Given the description of an element on the screen output the (x, y) to click on. 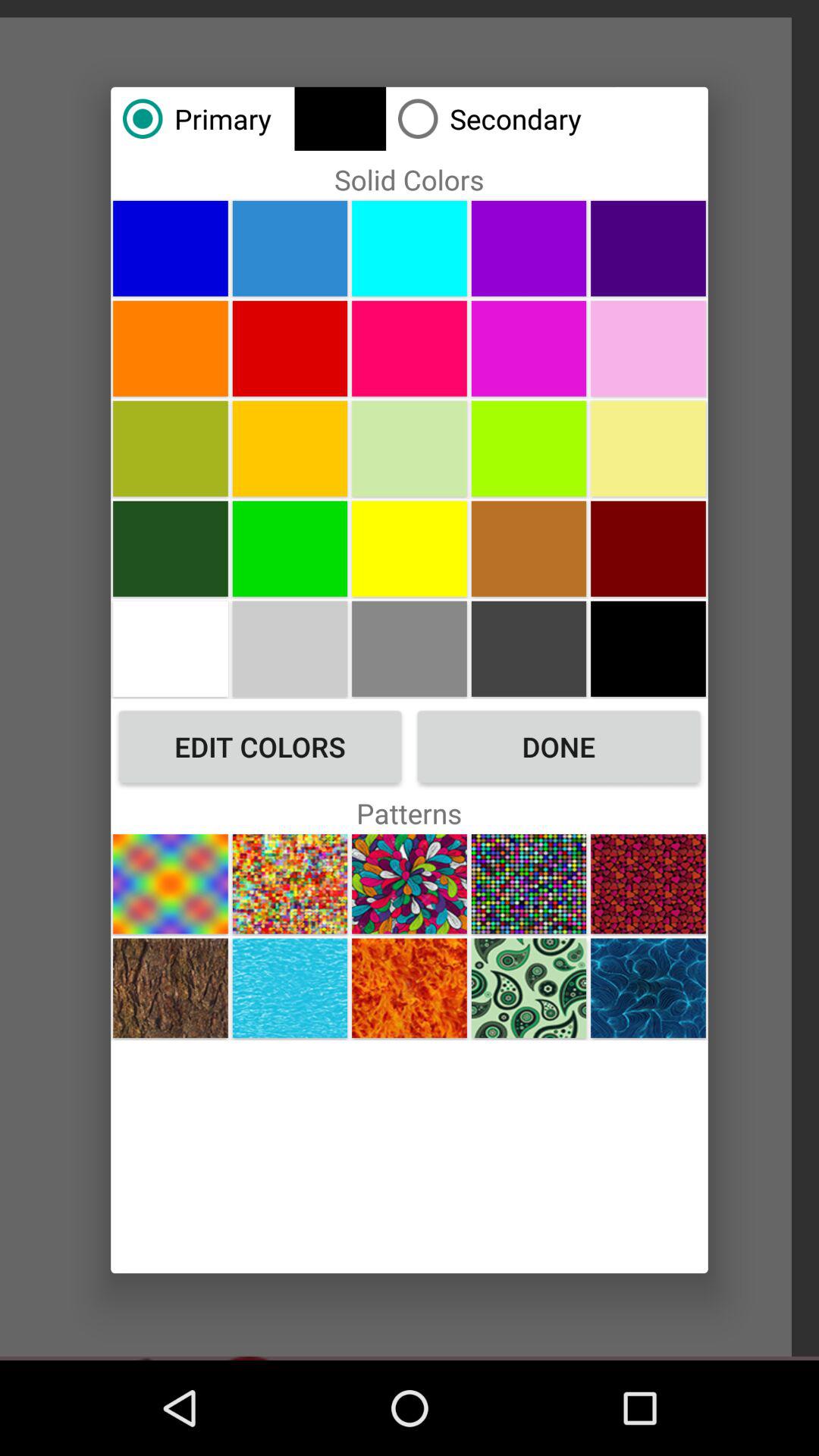
select pattern (409, 987)
